Given the description of an element on the screen output the (x, y) to click on. 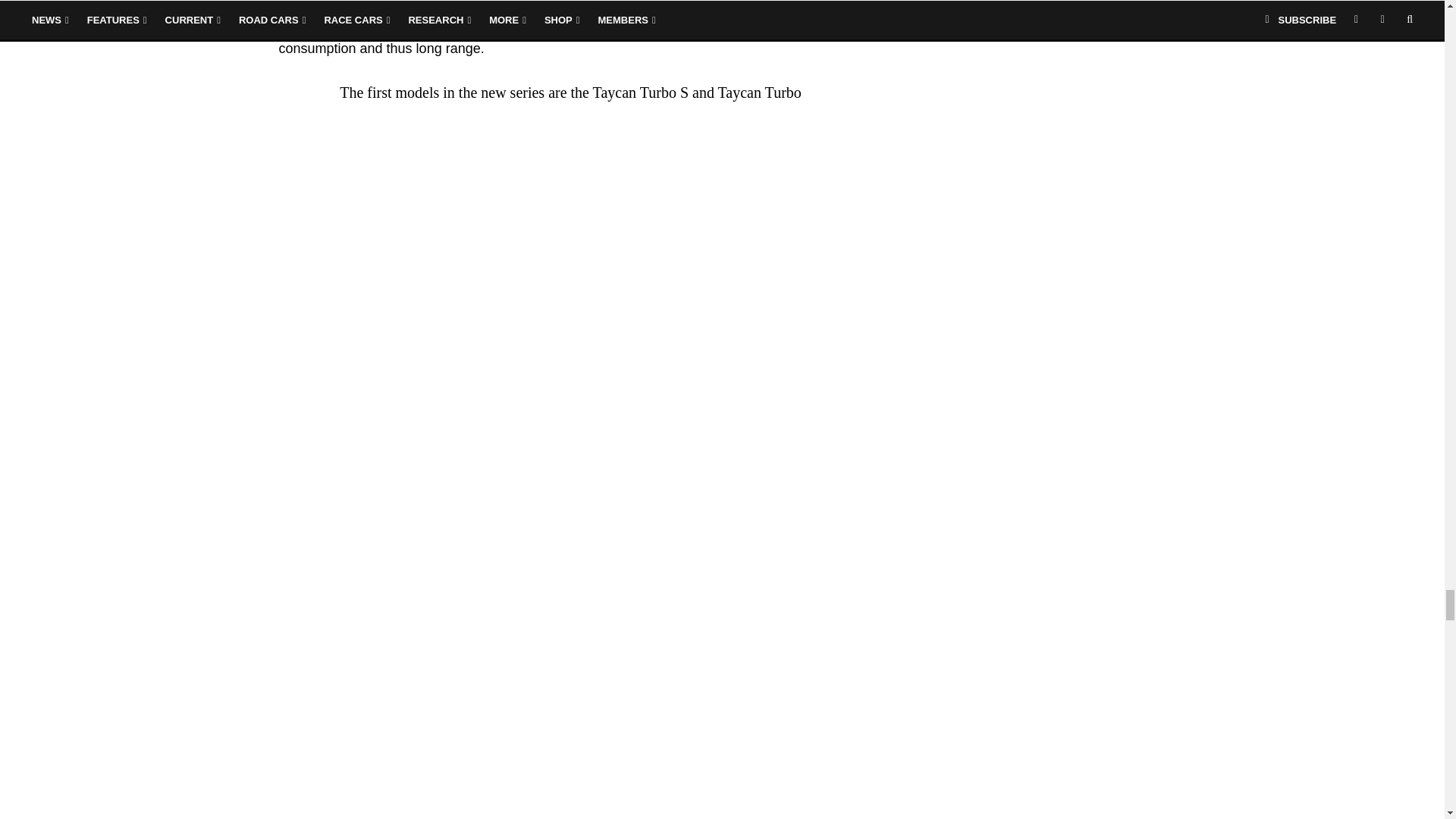
Taycan Turbo, 2019, Porsche AG (392, 597)
Taycan Turbo, 2019, Porsche AG (392, 718)
Taycan Turbo S, 2019, Porsche AG (392, 476)
Taycan Turbo, 2019, Porsche AG (392, 233)
Taycan Turbo S, 2019, Porsche AG (392, 354)
